Given the description of an element on the screen output the (x, y) to click on. 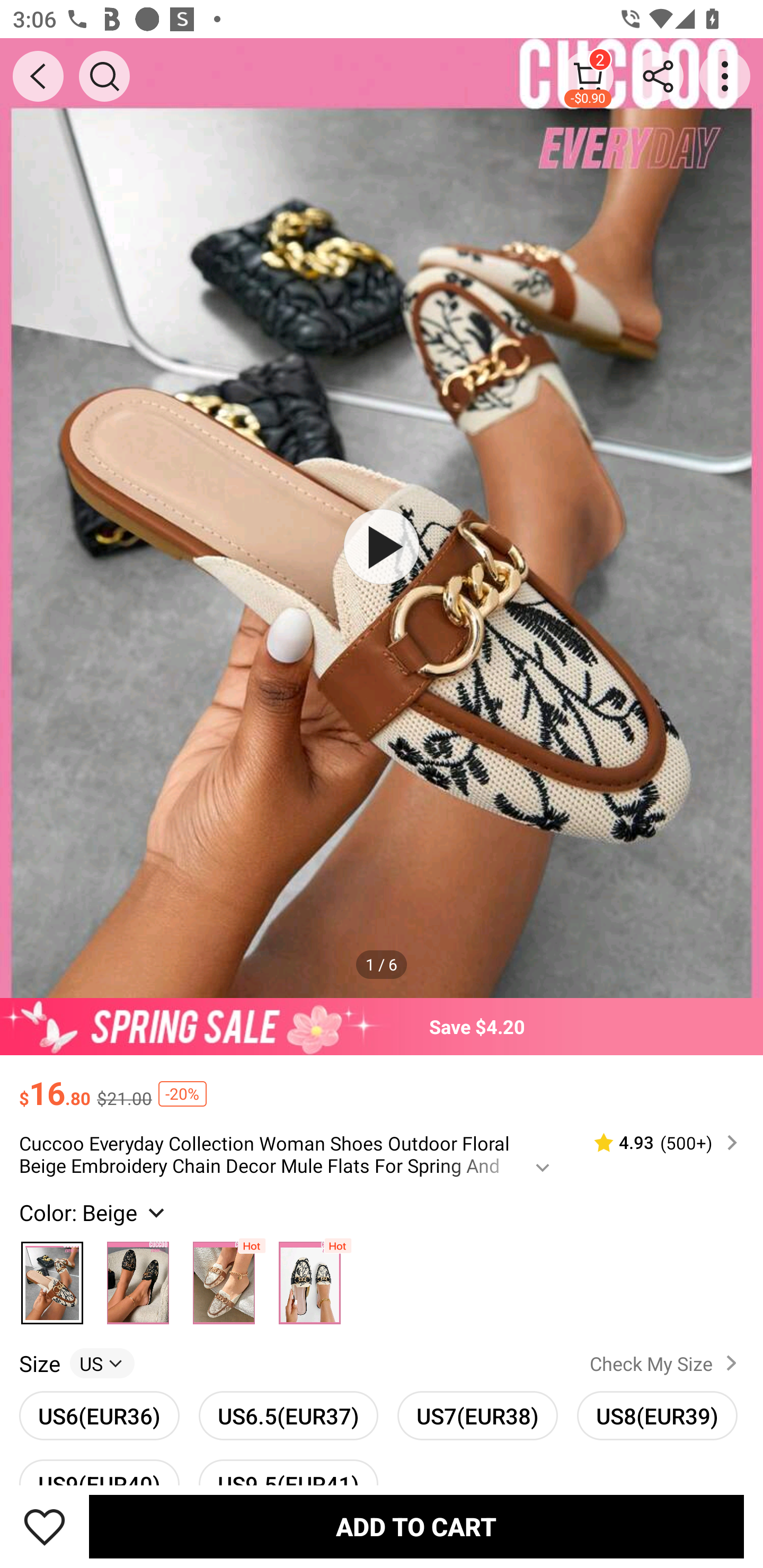
BACK (38, 75)
2 -$0.90 (588, 75)
1 / 6 (381, 964)
Save $4.20 (381, 1026)
$16.80 $21.00 -20% (381, 1084)
4.93 (500‎+) (658, 1142)
Color: Beige (94, 1212)
Beige (52, 1278)
Black (138, 1278)
Brown (224, 1278)
Multicolor (309, 1278)
Size (39, 1363)
US (102, 1363)
Check My Size (666, 1363)
US6(EUR36) US6(EUR36)unselected option (99, 1415)
US6.5(EUR37) US6.5(EUR37)unselected option (288, 1415)
US7(EUR38) US7(EUR38)unselected option (477, 1415)
US8(EUR39) US8(EUR39)unselected option (656, 1415)
ADD TO CART (416, 1526)
Save (44, 1526)
